Given the description of an element on the screen output the (x, y) to click on. 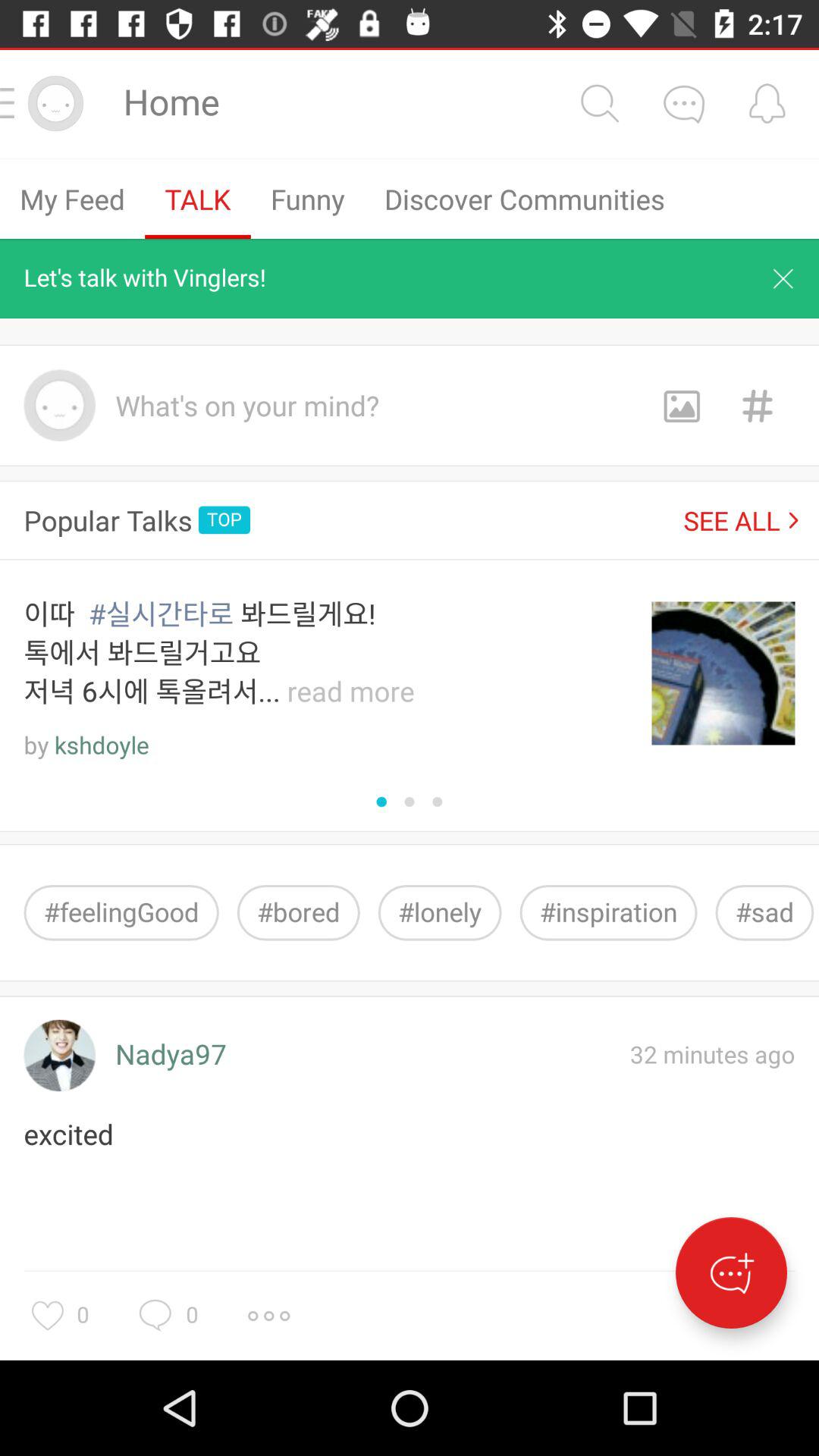
scroll until #bored icon (298, 912)
